Given the description of an element on the screen output the (x, y) to click on. 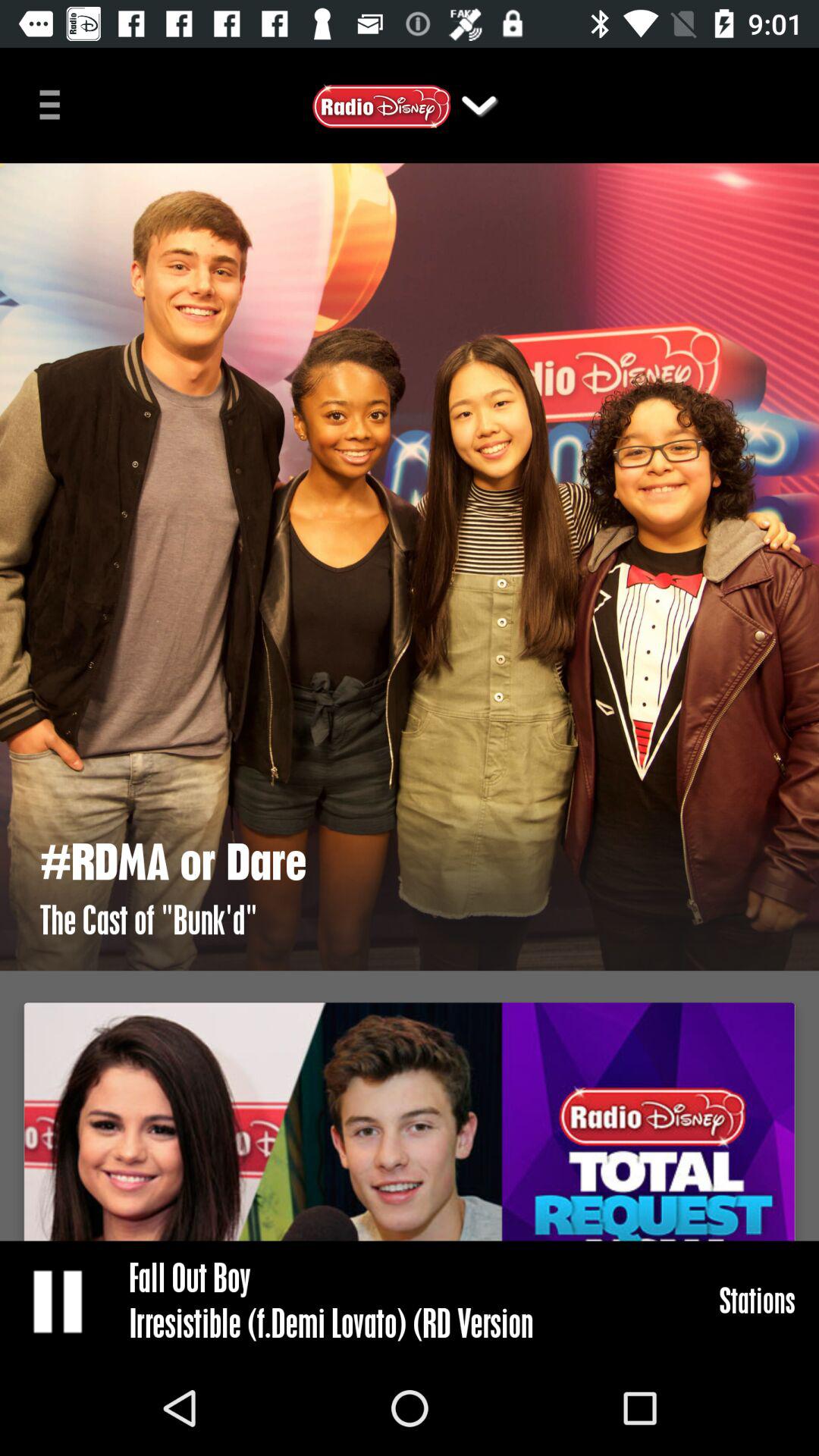
pause (59, 1300)
